Given the description of an element on the screen output the (x, y) to click on. 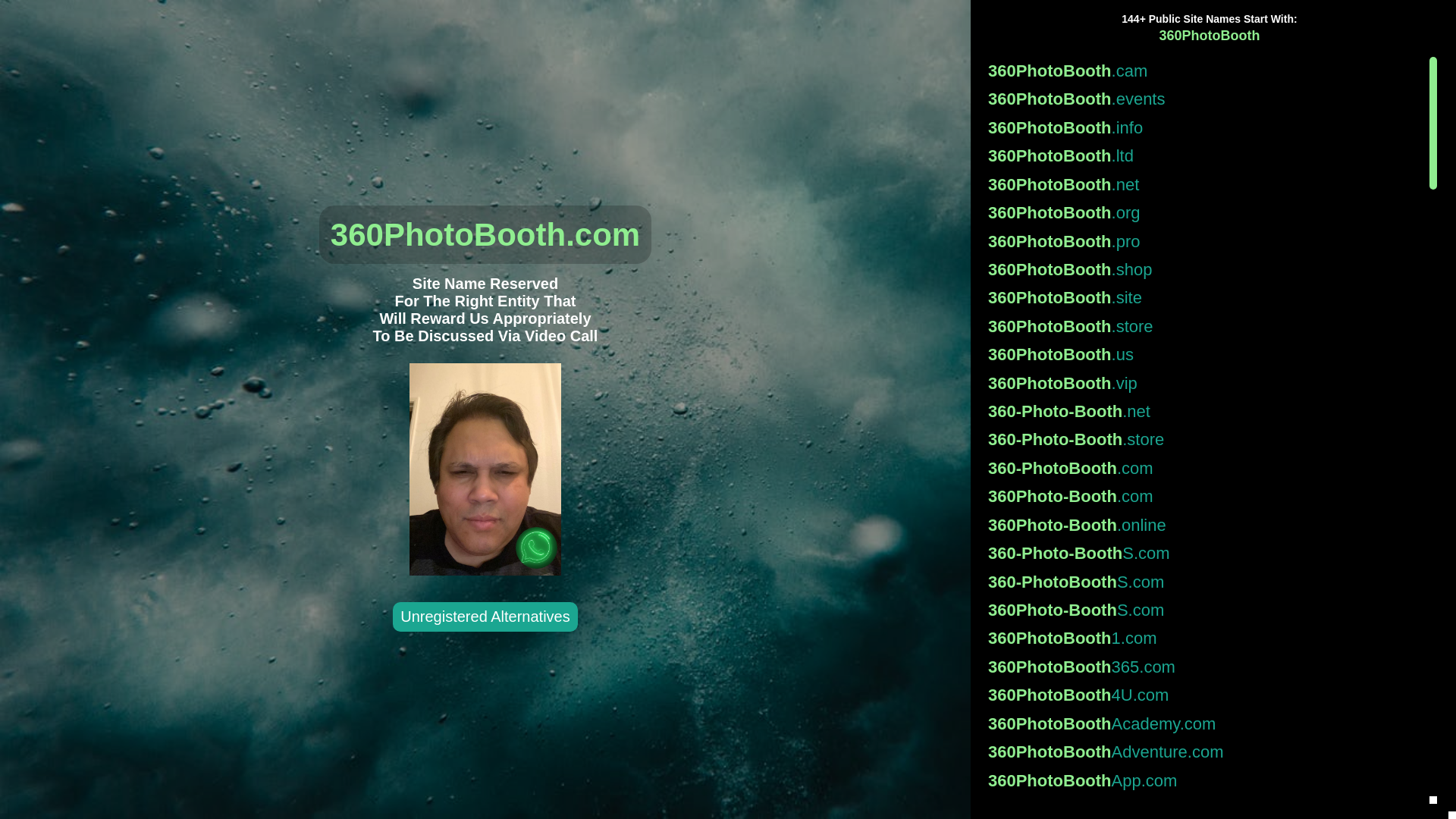
360PhotoBooth.us Element type: text (1205, 354)
360PhotoBoothAdventure.com Element type: text (1205, 751)
360PhotoBooth365.com Element type: text (1205, 666)
360PhotoBooth.shop Element type: text (1205, 269)
360PhotoBooth1.com Element type: text (1205, 638)
360-PhotoBoothS.com Element type: text (1205, 581)
360PhotoBooth.org Element type: text (1205, 212)
144+ Public Site Names Start With:
360PhotoBooth Element type: text (1208, 27)
360PhotoBoothAcademy.com Element type: text (1205, 723)
360PhotoBooth.info Element type: text (1205, 127)
360Photo-Booth.online Element type: text (1205, 525)
360-Photo-BoothS.com Element type: text (1205, 553)
Unregistered Alternatives Element type: text (484, 617)
360PhotoBooth.ltd Element type: text (1205, 155)
360PhotoBooth.net Element type: text (1205, 184)
360Photo-BoothS.com Element type: text (1205, 610)
360-PhotoBooth.com Element type: text (1205, 468)
360-Photo-Booth.store Element type: text (1205, 439)
360PhotoBooth.vip Element type: text (1205, 383)
360PhotoBooth.pro Element type: text (1205, 241)
360PhotoBooth.cam Element type: text (1205, 70)
360PhotoBooth4U.com Element type: text (1205, 694)
360Photo-Booth.com Element type: text (1205, 496)
360-Photo-Booth.net Element type: text (1205, 411)
360PhotoBooth.store Element type: text (1205, 326)
360PhotoBooth.site Element type: text (1205, 297)
360PhotoBooth.events Element type: text (1205, 98)
360PhotoBoothApp.com Element type: text (1205, 780)
